Given the description of an element on the screen output the (x, y) to click on. 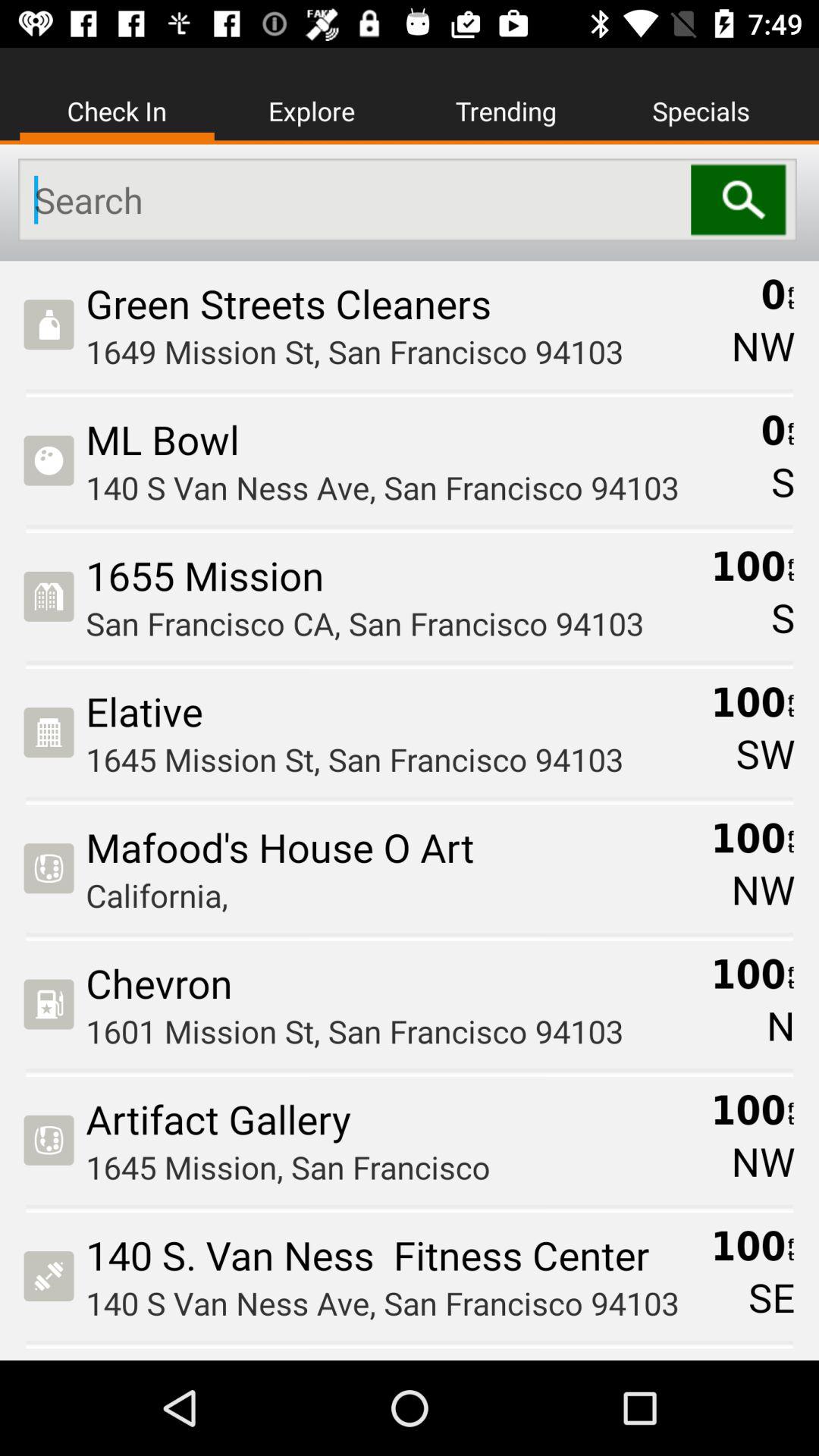
turn on icon above the chevron (392, 894)
